Given the description of an element on the screen output the (x, y) to click on. 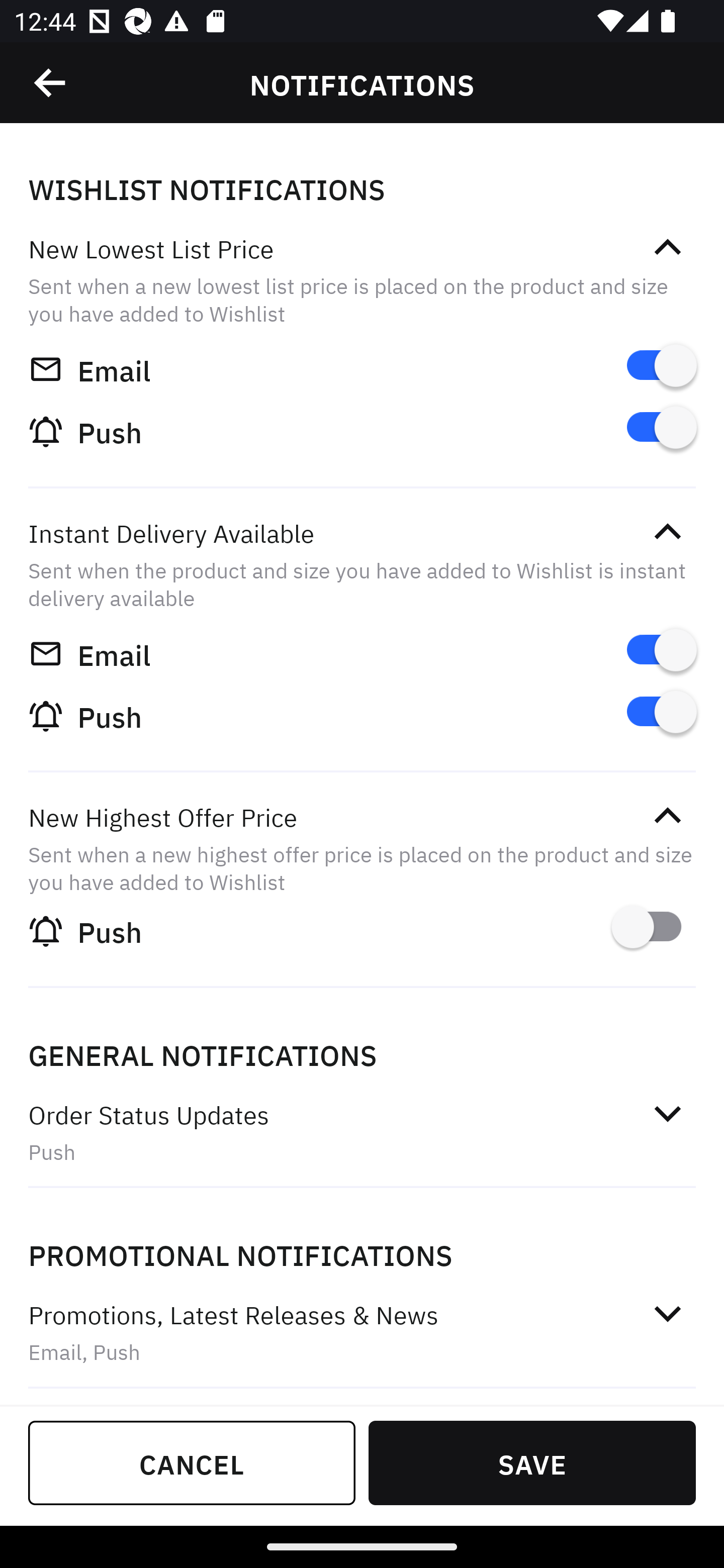
 (50, 83)
 (667, 247)
 (667, 532)
 (667, 815)
Order Status Updates  Push (361, 1132)
 (667, 1113)
Promotions, Latest Releases & News  Email, Push (361, 1332)
 (667, 1312)
CANCEL (191, 1462)
SAVE (531, 1462)
